Given the description of an element on the screen output the (x, y) to click on. 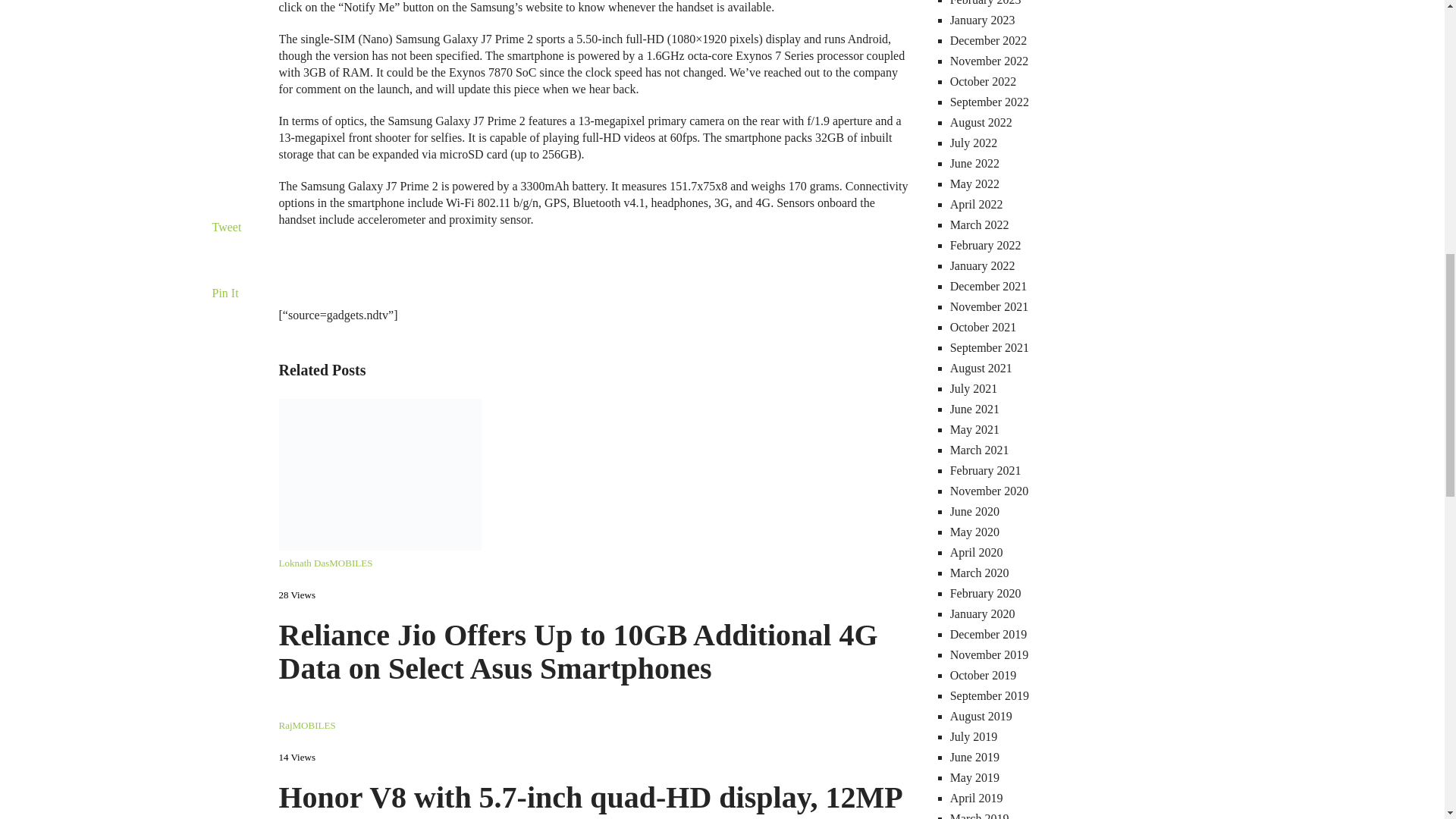
View all posts in Mobiles (314, 725)
Posts by Raj (285, 725)
Raj (285, 725)
MOBILES (350, 562)
View all posts in Mobiles (350, 562)
Posts by Loknath Das (304, 562)
Loknath Das (304, 562)
